Given the description of an element on the screen output the (x, y) to click on. 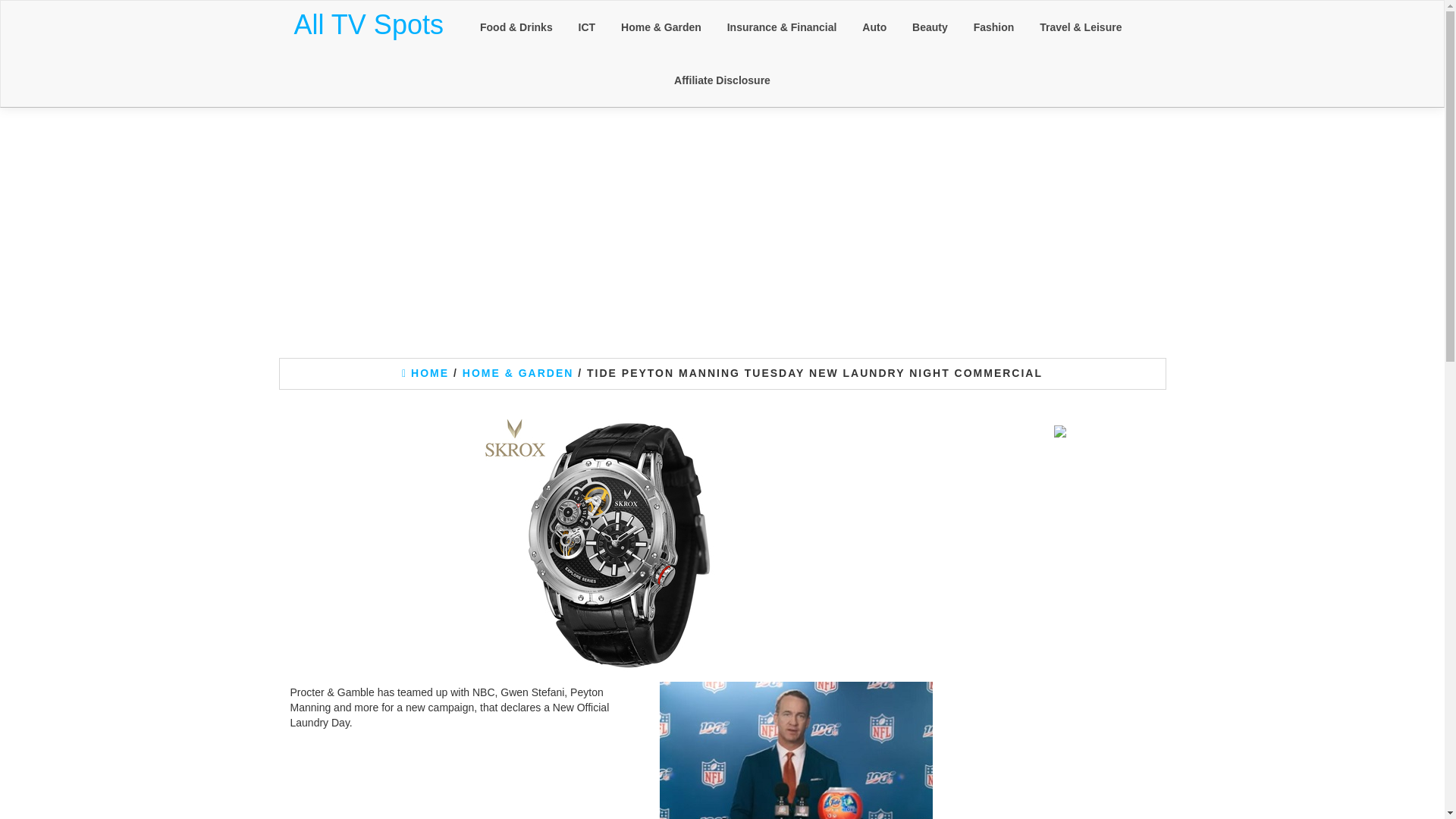
Fashion (994, 27)
Fashion (994, 27)
Affiliate Disclosure (721, 80)
Beauty (930, 27)
Affiliate Disclosure (721, 80)
Auto (874, 27)
Auto (874, 27)
Advertisement (1060, 662)
All TV Spots (369, 24)
All TV Spots (369, 24)
HOME (424, 372)
ICT (587, 27)
ICT (587, 27)
Beauty (930, 27)
